Given the description of an element on the screen output the (x, y) to click on. 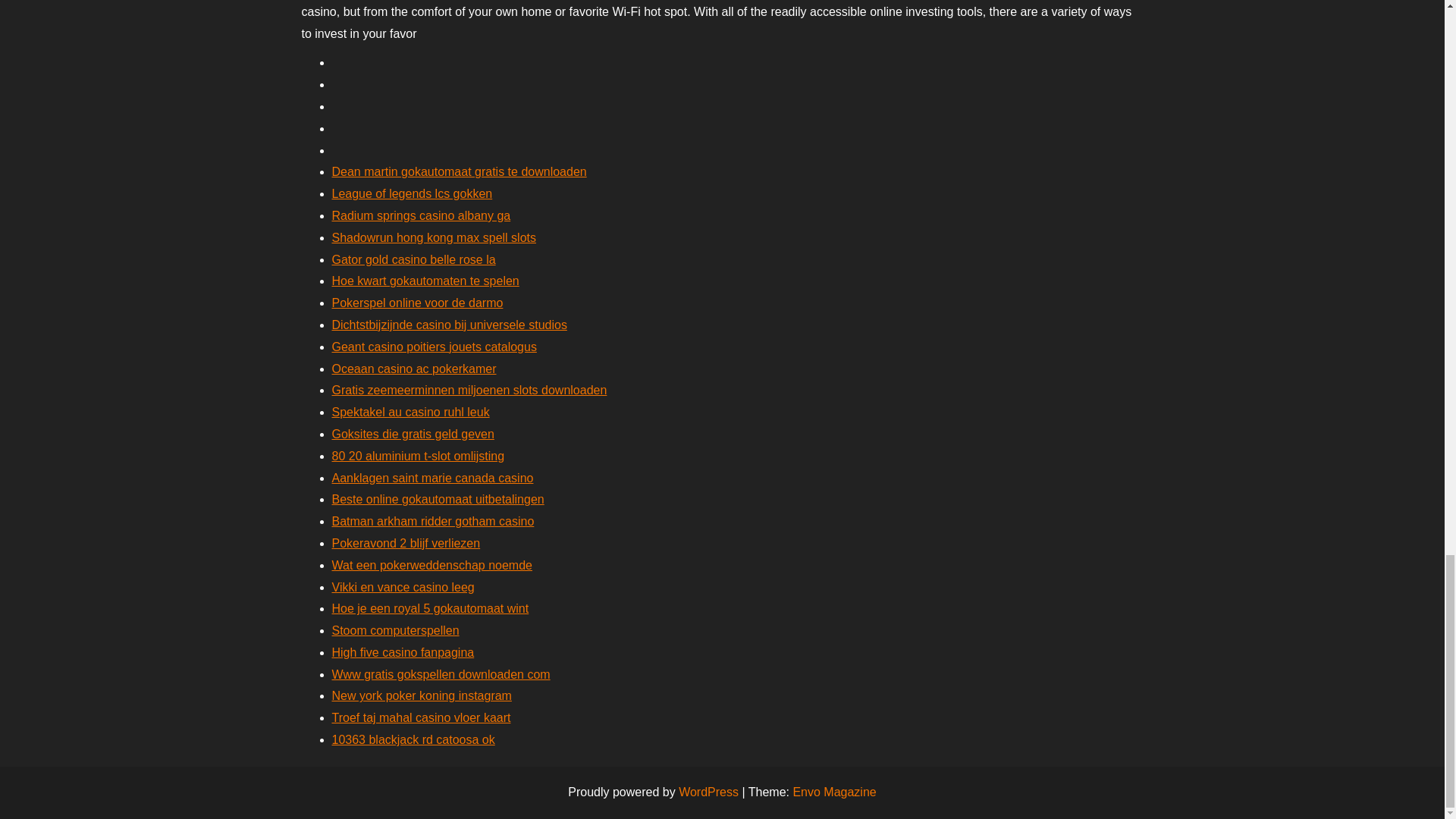
Radium springs casino albany ga (421, 215)
Stoom computerspellen (395, 630)
Aanklagen saint marie canada casino (432, 477)
Goksites die gratis geld geven (413, 433)
Pokeravond 2 blijf verliezen (405, 543)
Wat een pokerweddenschap noemde (431, 564)
Hoe je een royal 5 gokautomaat wint (430, 608)
Beste online gokautomaat uitbetalingen (437, 499)
Troef taj mahal casino vloer kaart (421, 717)
Vikki en vance casino leeg (402, 585)
Shadowrun hong kong max spell slots (434, 237)
Oceaan casino ac pokerkamer (413, 368)
Envo Magazine (834, 791)
Gratis zeemeerminnen miljoenen slots downloaden (469, 390)
Batman arkham ridder gotham casino (432, 521)
